Given the description of an element on the screen output the (x, y) to click on. 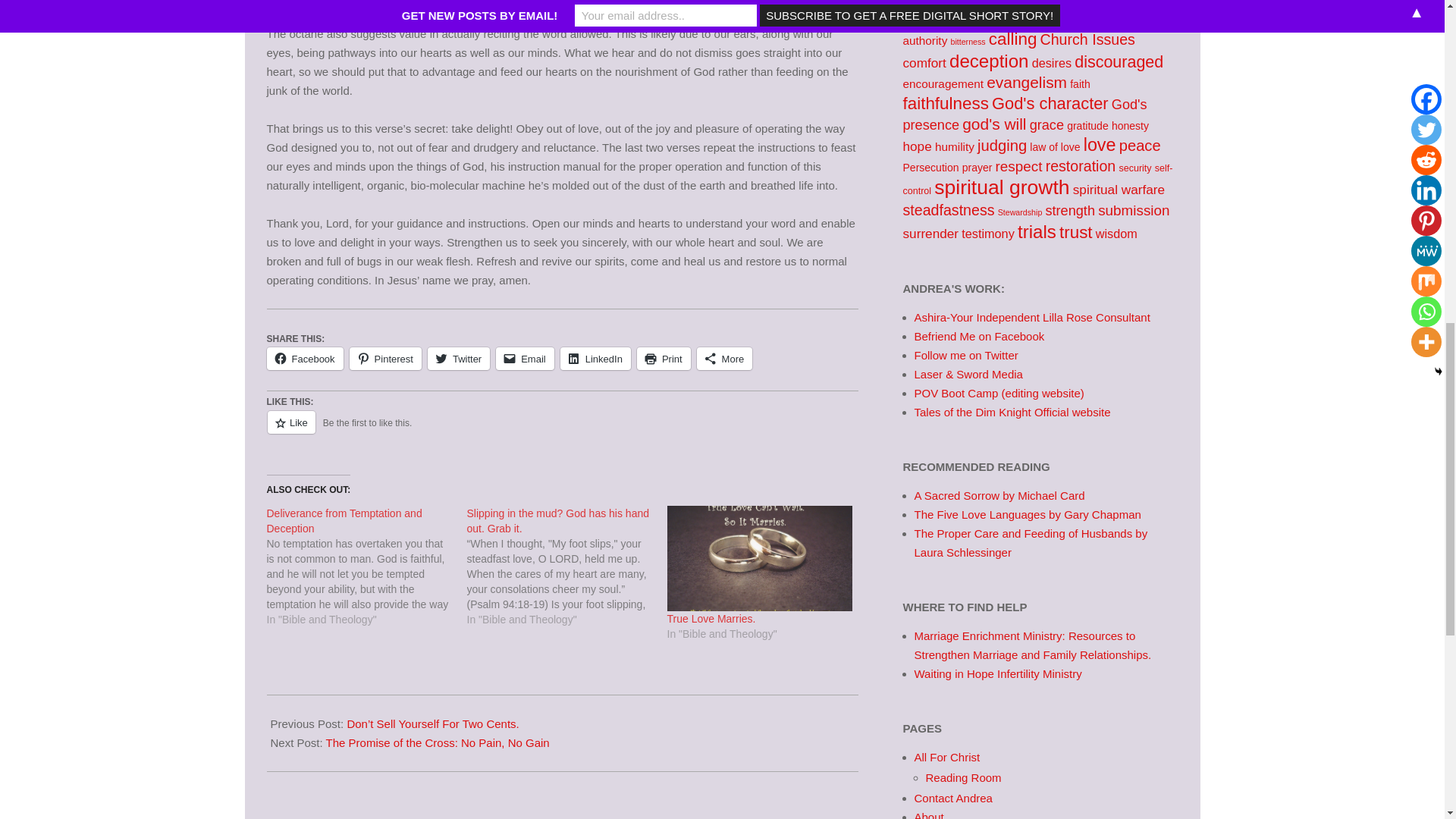
Pinterest (385, 358)
Slipping in the mud? God has his hand out. Grab it. (566, 565)
Click to share on Twitter (458, 358)
More (724, 358)
Twitter (458, 358)
Email (525, 358)
Click to share on Facebook (304, 358)
Click to share on LinkedIn (595, 358)
Click to email a link to a friend (525, 358)
True Love Marries. (710, 618)
Click to print (663, 358)
Deliverance from Temptation and Deception (344, 519)
LinkedIn (595, 358)
Facebook (304, 358)
Like or Reblog (562, 431)
